Given the description of an element on the screen output the (x, y) to click on. 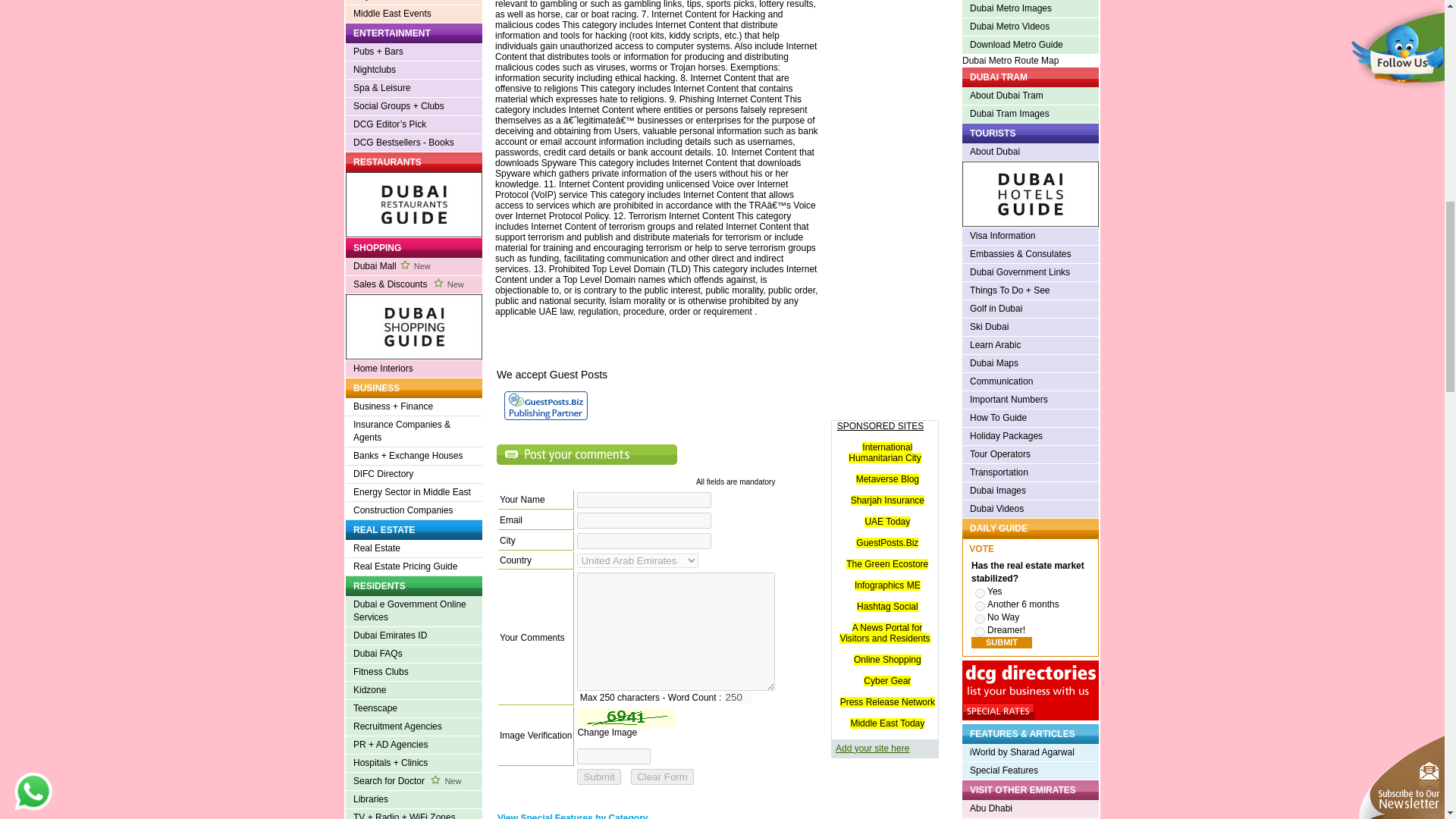
2 (980, 605)
Middle East Events (413, 13)
1 (980, 593)
Submit (598, 776)
Home Interiors (413, 369)
Construction Companies (413, 511)
SUBMIT (1001, 642)
250 (737, 697)
DIFC Directory (413, 475)
4 (980, 632)
Dubai MallNew (413, 266)
Nightclubs (413, 70)
DCG Bestsellers - Books (413, 143)
Clear Form (662, 776)
3 (980, 619)
